Given the description of an element on the screen output the (x, y) to click on. 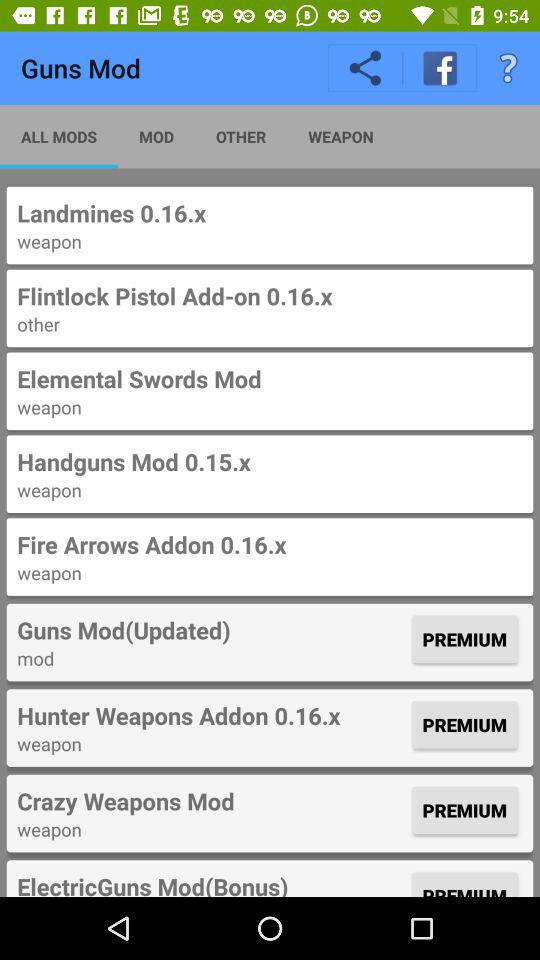
launch the item above weapon item (269, 544)
